Given the description of an element on the screen output the (x, y) to click on. 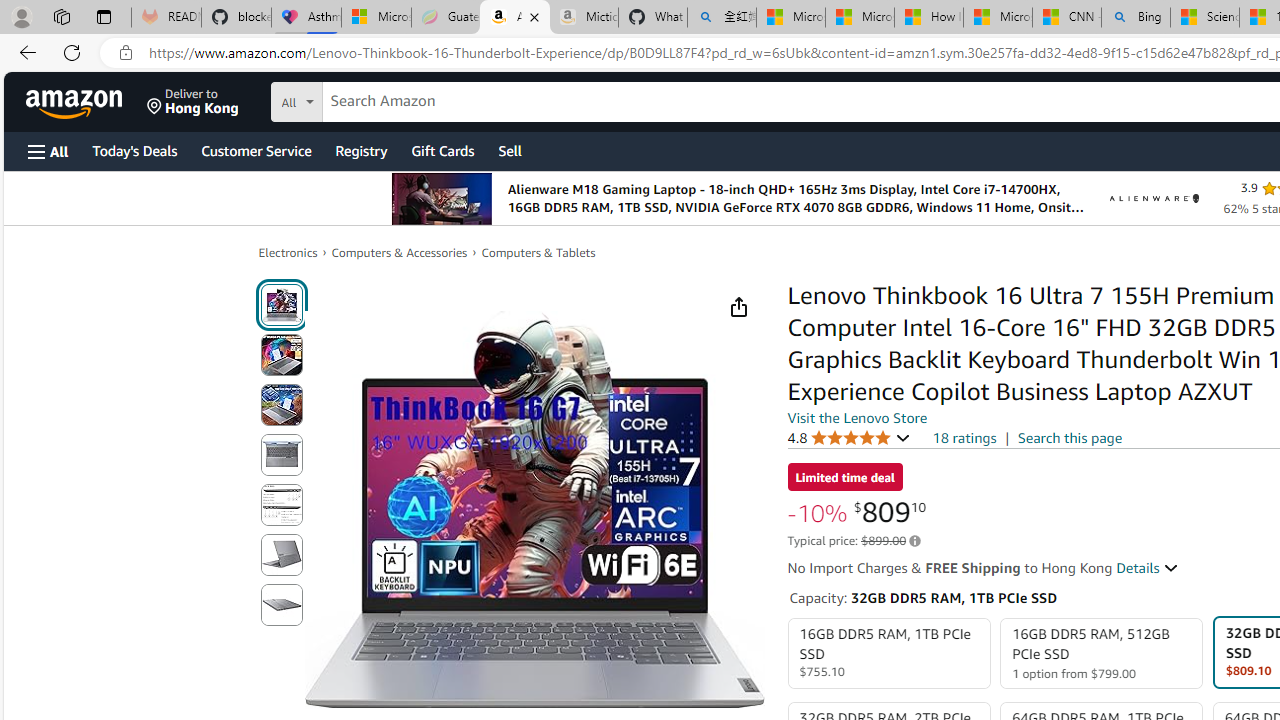
18 ratings (964, 438)
Open Menu (48, 151)
Computers & Tablets (538, 252)
Today's Deals (134, 150)
Computers & Accessories (399, 252)
Visit the Lenovo Store (857, 417)
Search in (371, 99)
Share (738, 307)
